Given the description of an element on the screen output the (x, y) to click on. 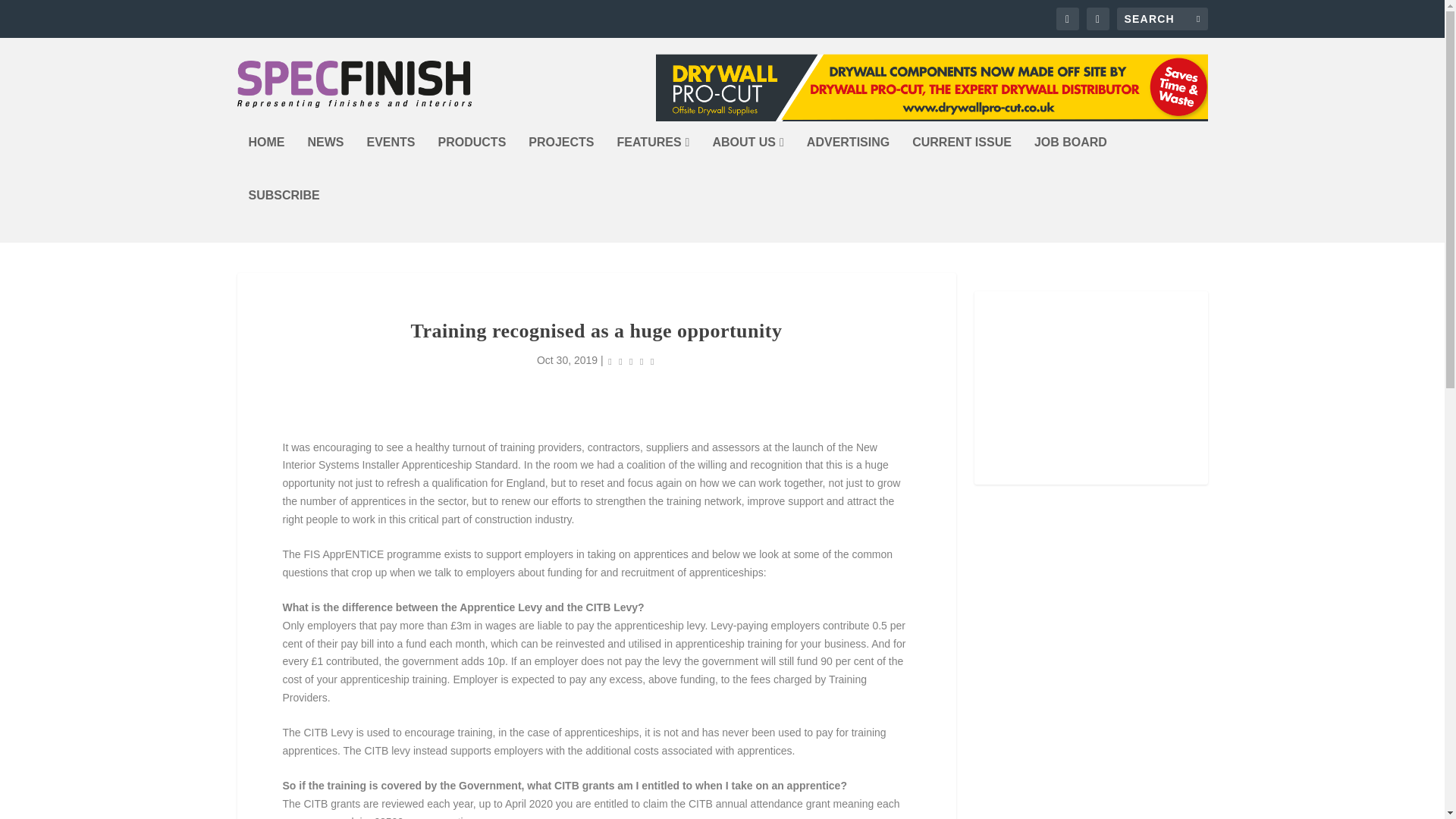
CURRENT ISSUE (961, 162)
ADVERTISING (847, 162)
PROJECTS (561, 162)
EVENTS (390, 162)
PRODUCTS (472, 162)
JOB BOARD (1069, 162)
Search for: (1161, 18)
Rating: 0.00 (631, 361)
ABOUT US (747, 162)
FEATURES (653, 162)
